Given the description of an element on the screen output the (x, y) to click on. 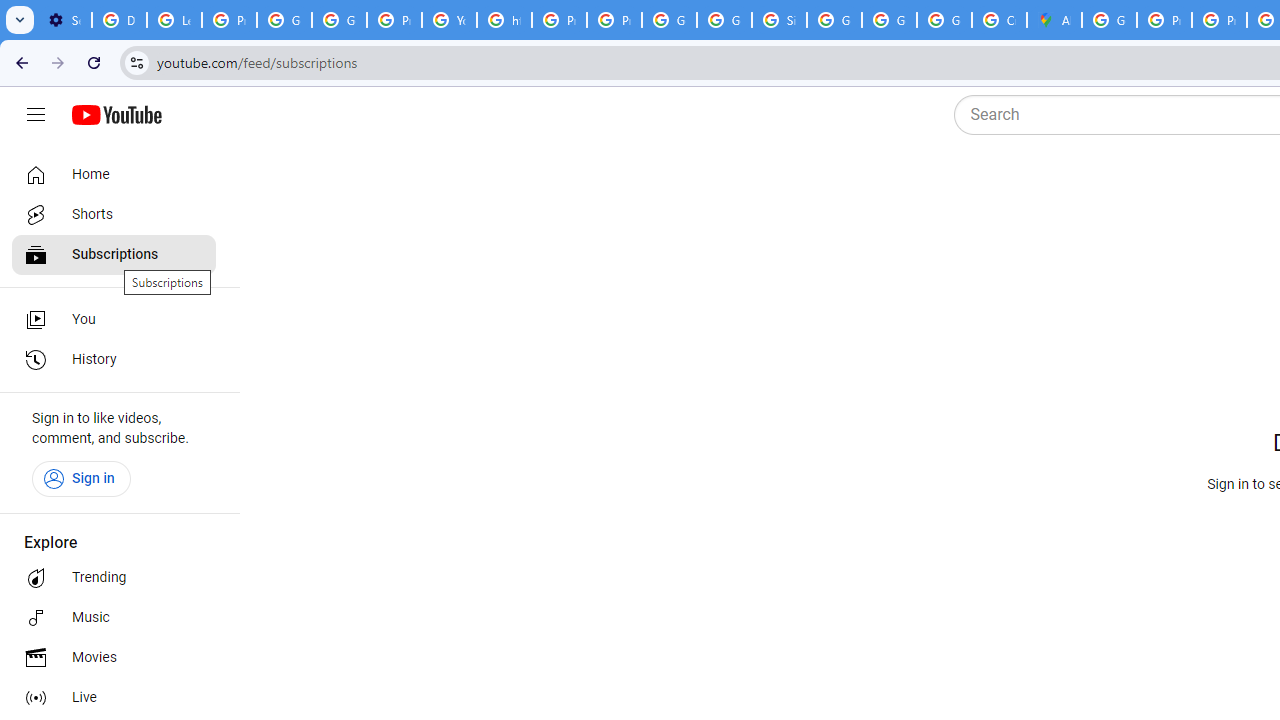
Privacy Help Center - Policies Help (559, 20)
Privacy Help Center - Policies Help (1163, 20)
YouTube Home (116, 115)
Settings - On startup (64, 20)
https://scholar.google.com/ (504, 20)
Movies (113, 657)
